Given the description of an element on the screen output the (x, y) to click on. 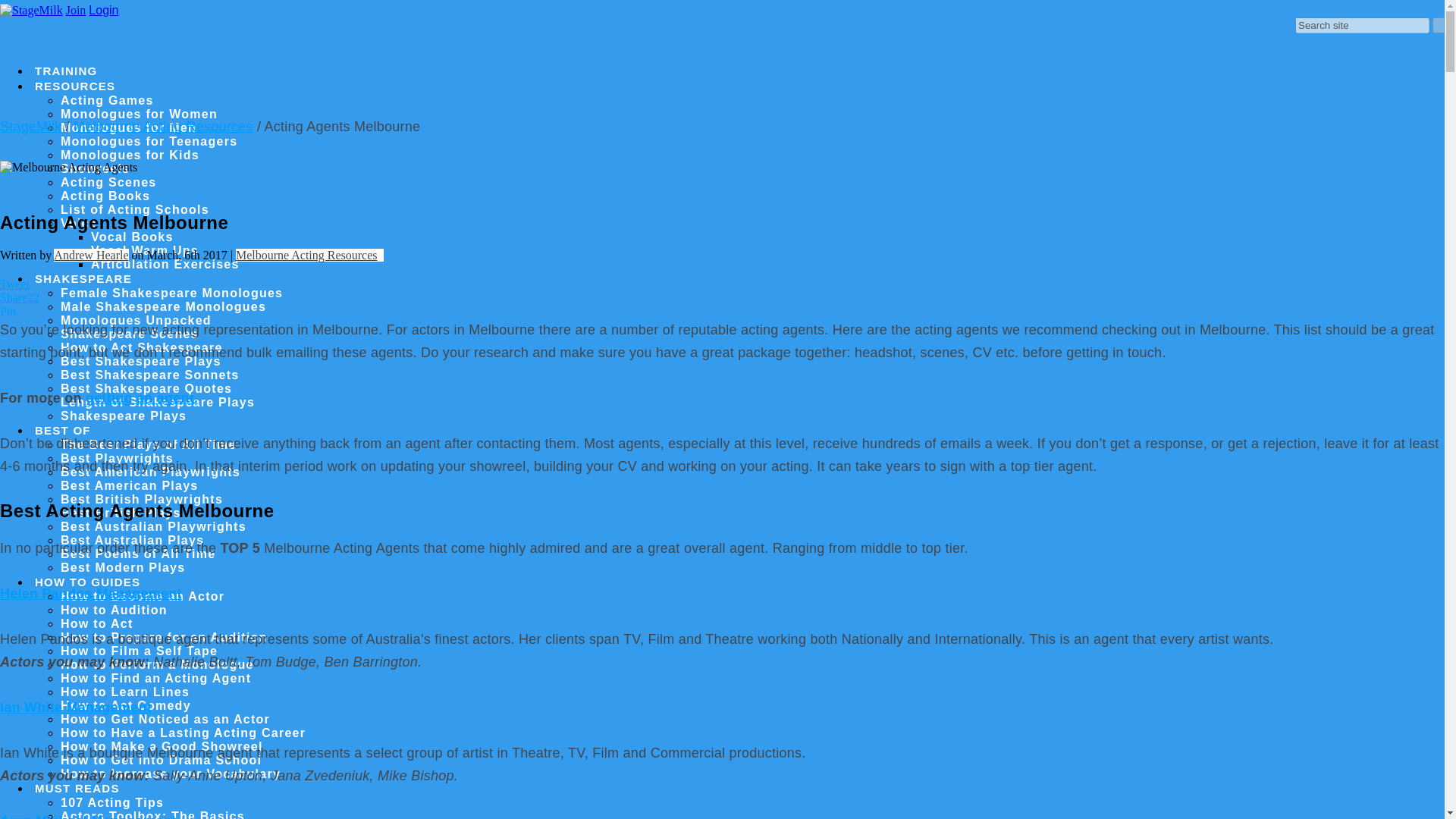
Best American Plays (141, 485)
Best Poems of All Time (149, 553)
Length of Shakespeare Plays (169, 401)
Login (102, 10)
Best Shakespeare Plays (152, 360)
Vocal Warm Ups (155, 250)
Best American Playwrights (162, 472)
How to Act Shakespeare (153, 347)
Monologues for Kids (141, 154)
Acting Games (118, 100)
